Given the description of an element on the screen output the (x, y) to click on. 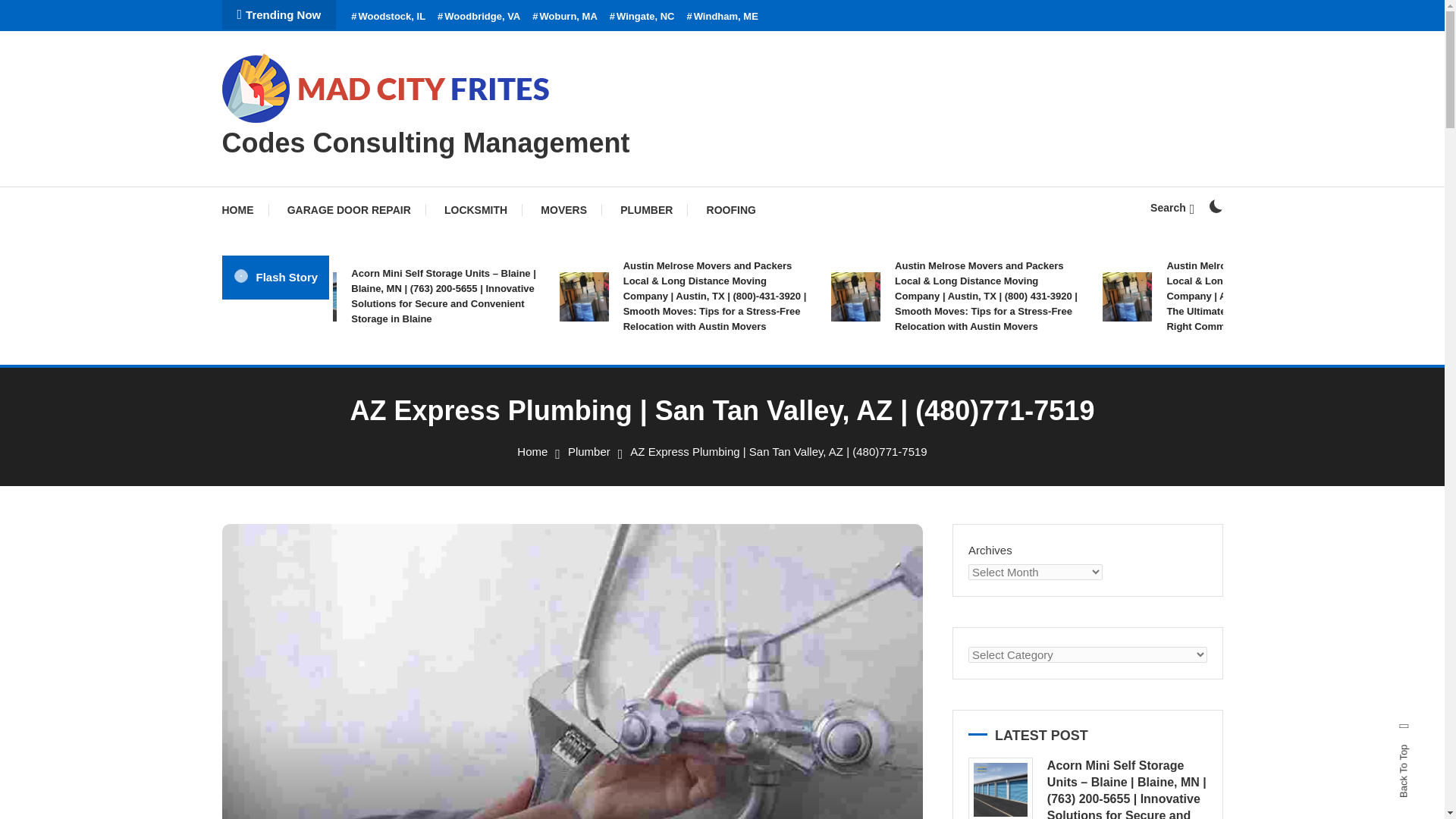
Wingate, NC (642, 16)
Woodbridge, VA (478, 16)
Search (768, 434)
Woburn, MA (564, 16)
on (1215, 205)
PLUMBER (646, 209)
Home (531, 451)
GARAGE DOOR REPAIR (349, 209)
HOME (244, 209)
MOVERS (563, 209)
Codes Consulting Management (424, 142)
Woodstock, IL (387, 16)
Plumber (588, 451)
ROOFING (731, 209)
LOCKSMITH (475, 209)
